Given the description of an element on the screen output the (x, y) to click on. 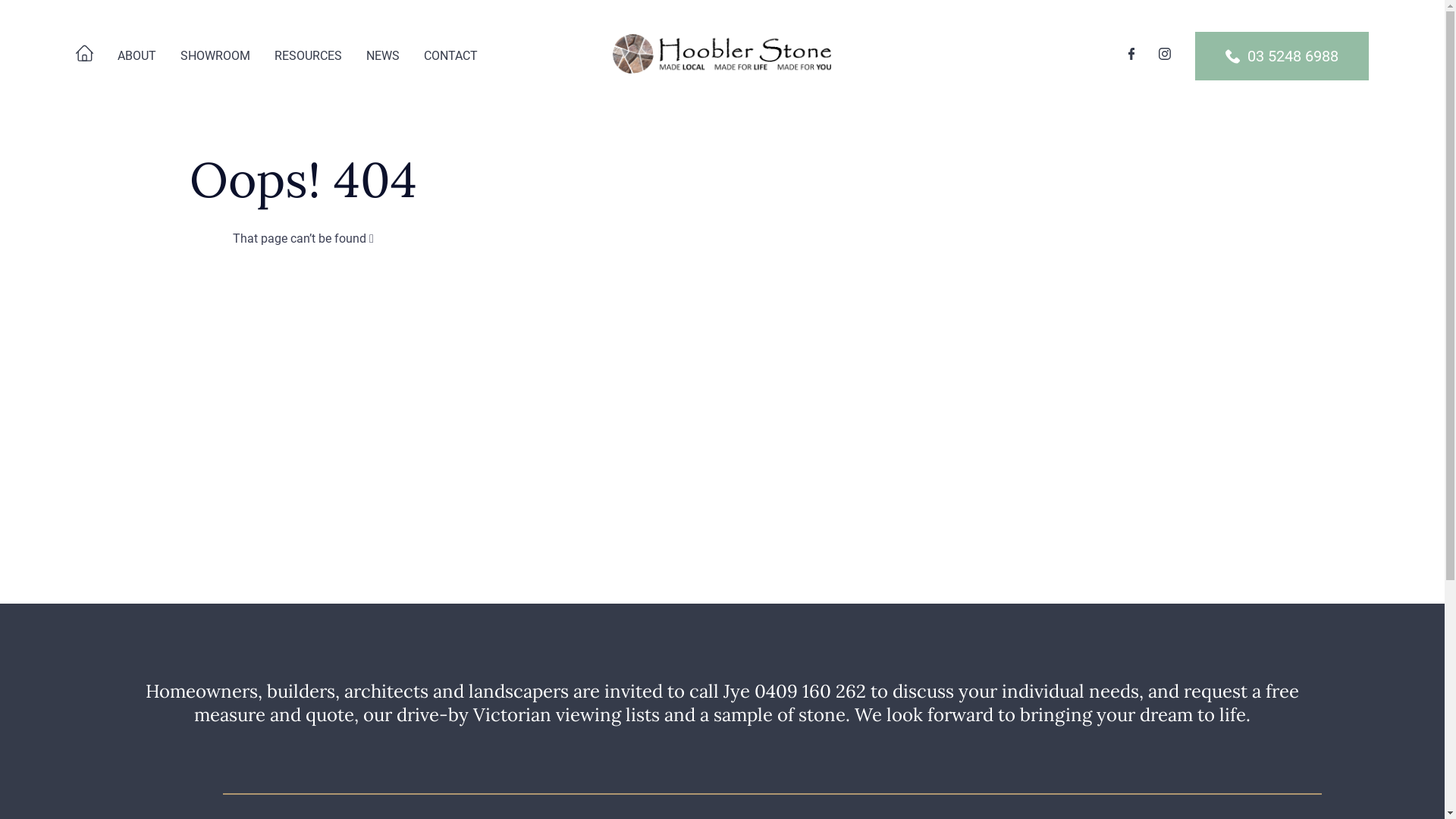
NEWS Element type: text (382, 55)
ABOUT Element type: text (136, 55)
03 5248 6988 Element type: text (1281, 55)
SHOWROOM Element type: text (215, 55)
CONTACT Element type: text (450, 55)
RESOURCES Element type: text (308, 55)
